Given the description of an element on the screen output the (x, y) to click on. 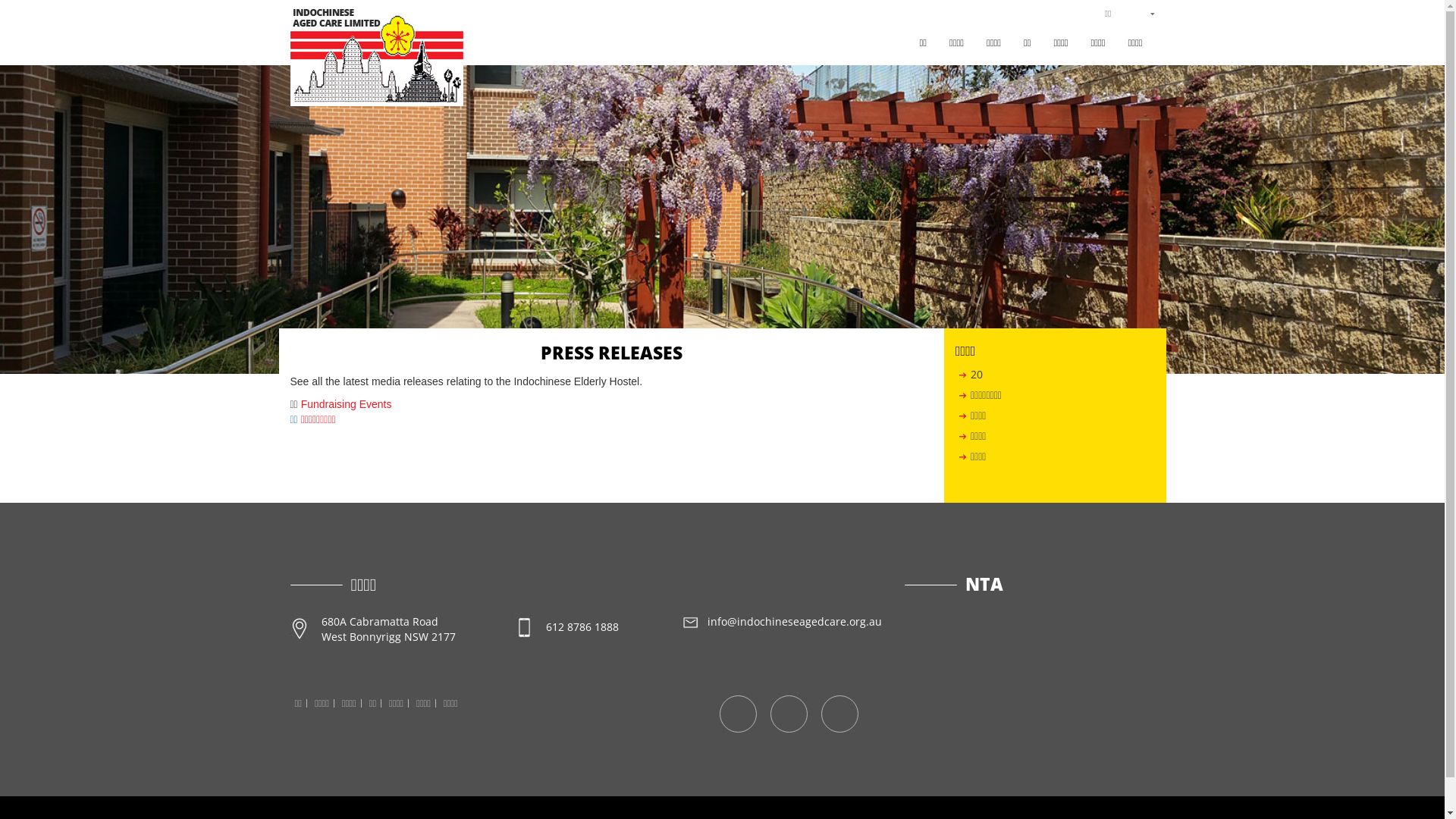
inner-banner.jpg Element type: hover (722, 219)
612 8786 1888 Element type: text (613, 626)
info@indochineseagedcare.org.au Element type: text (781, 621)
